Given the description of an element on the screen output the (x, y) to click on. 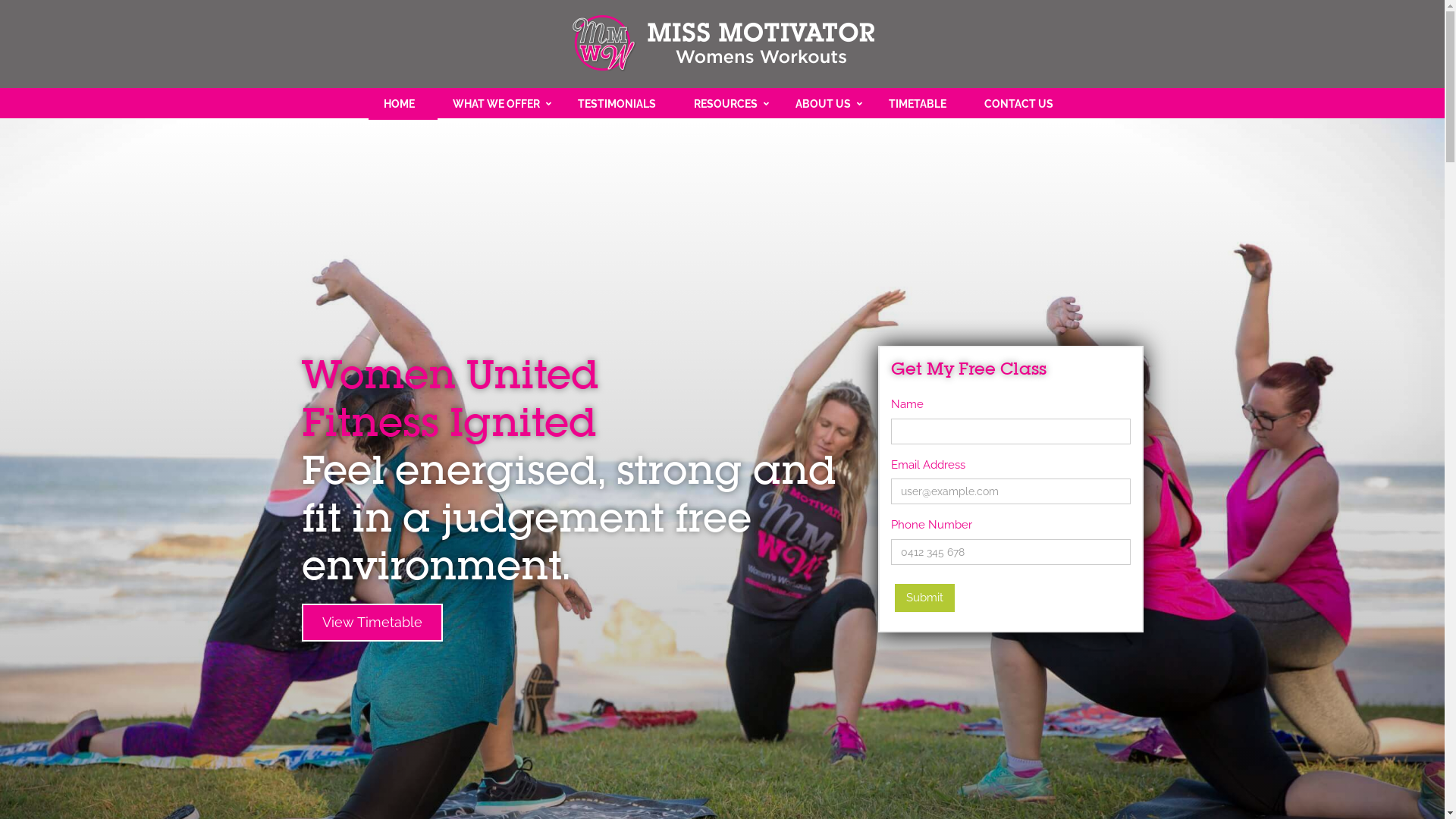
WHAT WE OFFER Element type: text (499, 104)
CONTACT US Element type: text (1022, 104)
Submit Element type: text (924, 597)
ABOUT US Element type: text (826, 104)
View Timetable Element type: text (371, 622)
HOME Element type: text (402, 104)
TIMETABLE Element type: text (921, 104)
TESTIMONIALS Element type: text (620, 104)
RESOURCES Element type: text (729, 104)
